Given the description of an element on the screen output the (x, y) to click on. 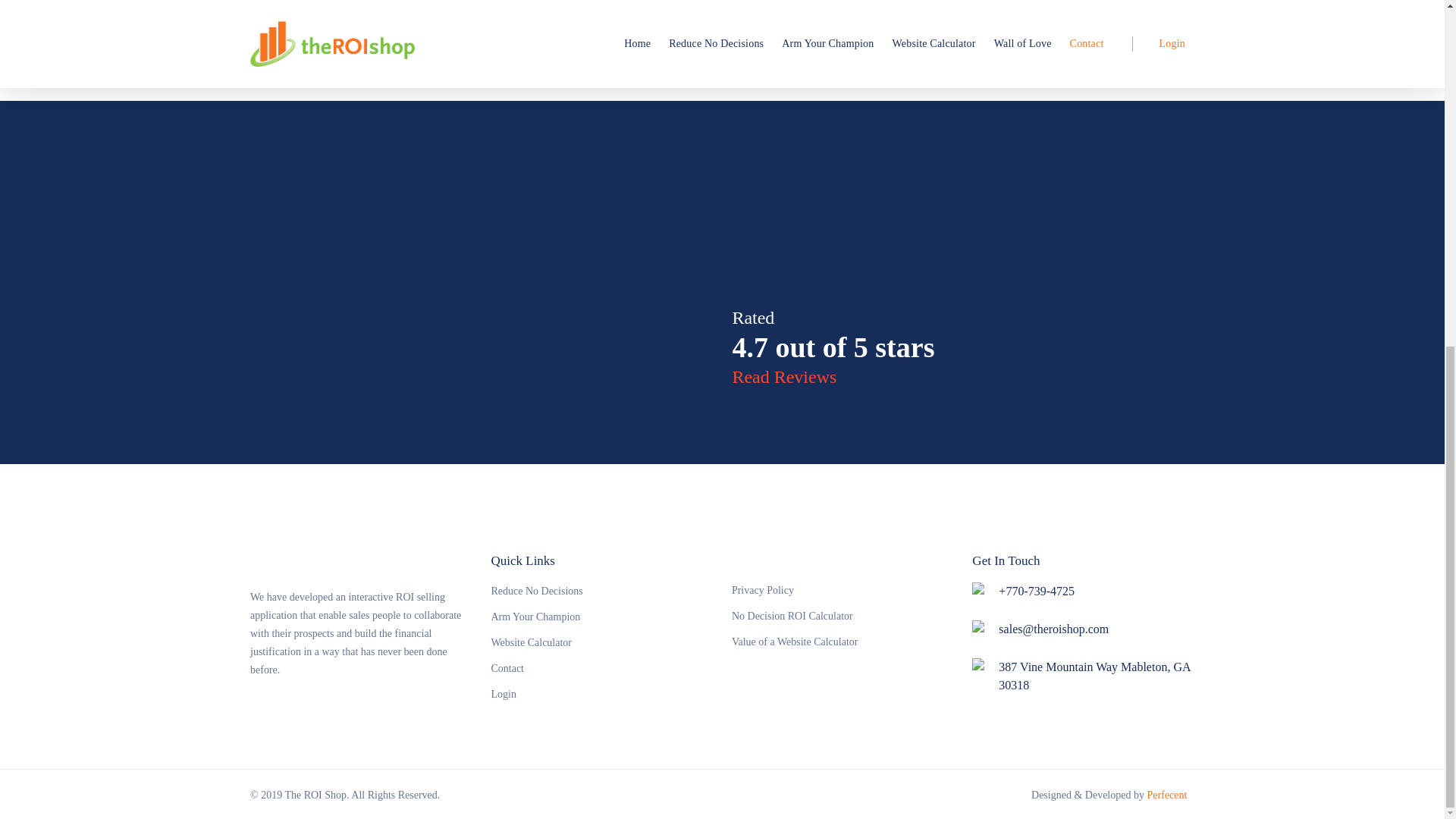
Reduce No Decisions (601, 593)
Value of a Website Calculator (842, 642)
Read Reviews (783, 376)
Contact (601, 668)
Privacy Policy (842, 592)
No Decision ROI Calculator (842, 616)
Arm Your Champion (601, 616)
Website Calculator (601, 642)
Perfecent (1166, 794)
Login (601, 694)
